Given the description of an element on the screen output the (x, y) to click on. 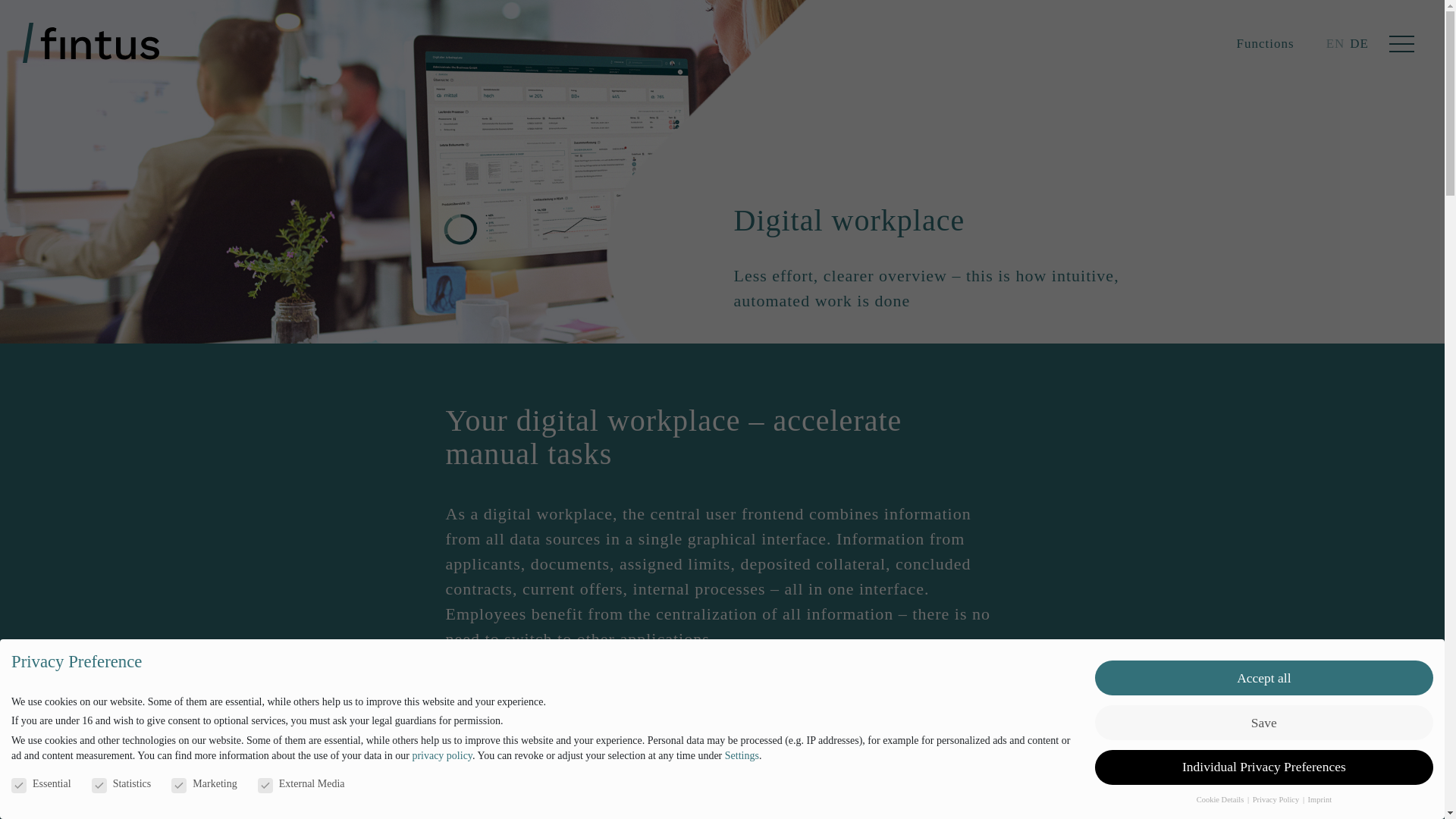
Functions (1265, 43)
Deutsch (1358, 43)
EN (1335, 43)
DE (1358, 43)
